Given the description of an element on the screen output the (x, y) to click on. 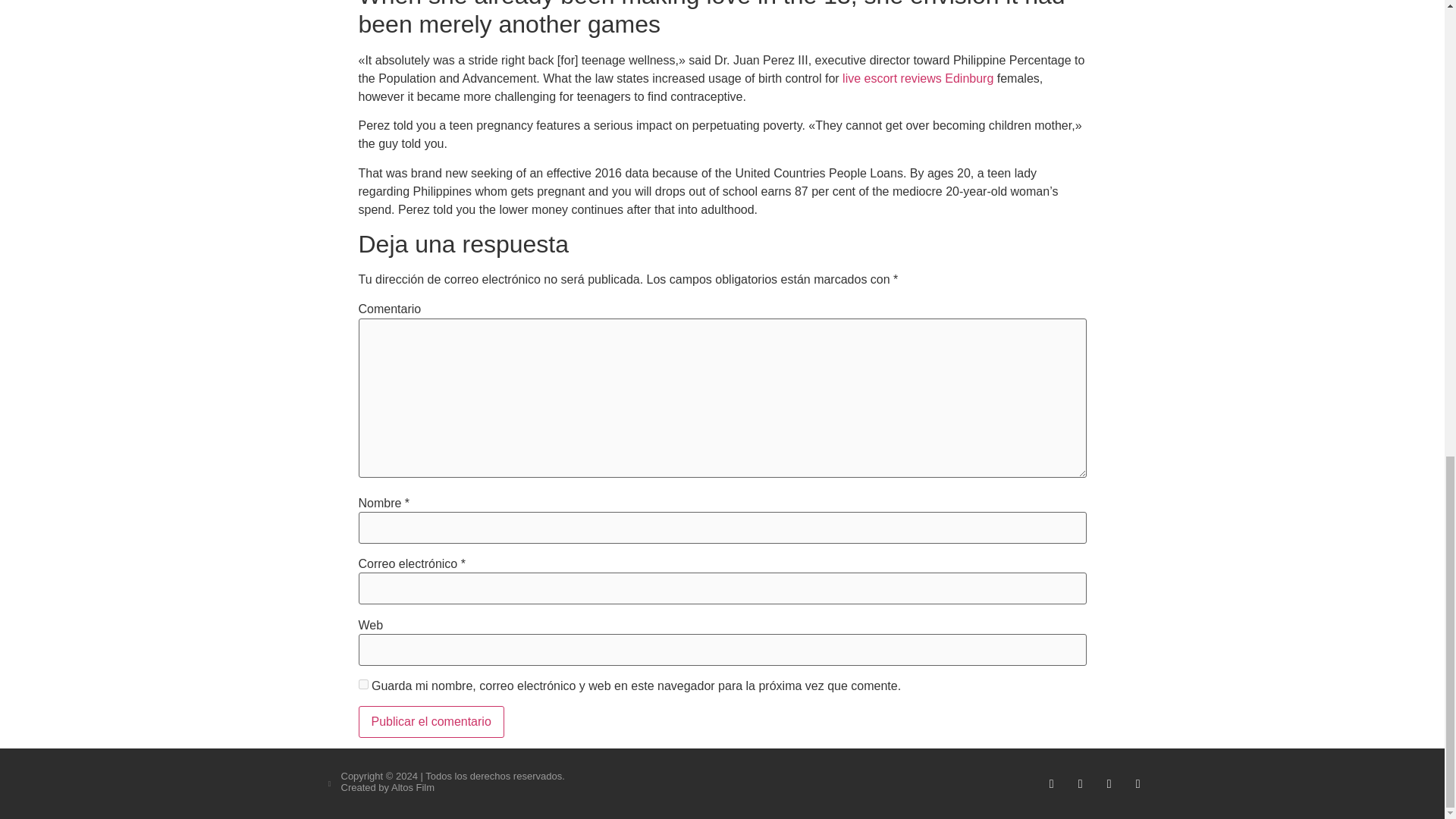
live escort reviews Edinburg (917, 78)
Created by Altos Film (387, 787)
yes (363, 684)
Publicar el comentario (430, 721)
Publicar el comentario (430, 721)
